Given the description of an element on the screen output the (x, y) to click on. 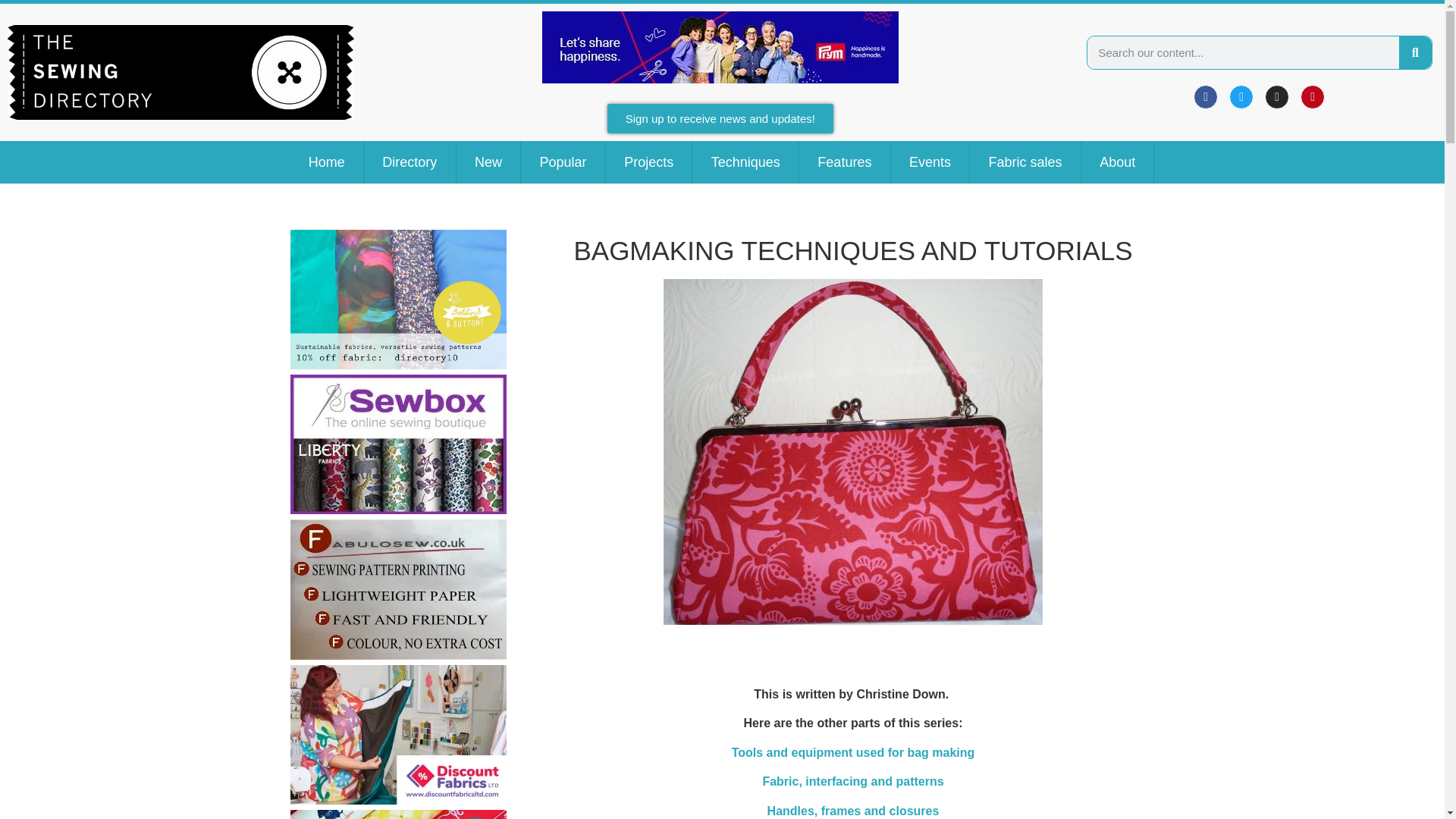
Features (844, 161)
Fabric sales (1024, 161)
About (1117, 161)
logo horizontal (180, 72)
Events (930, 161)
Making your own bags (852, 451)
Bag making tools and equipment (853, 752)
Home (325, 161)
Bag closures, handles and frames (853, 810)
Directory (409, 161)
